Given the description of an element on the screen output the (x, y) to click on. 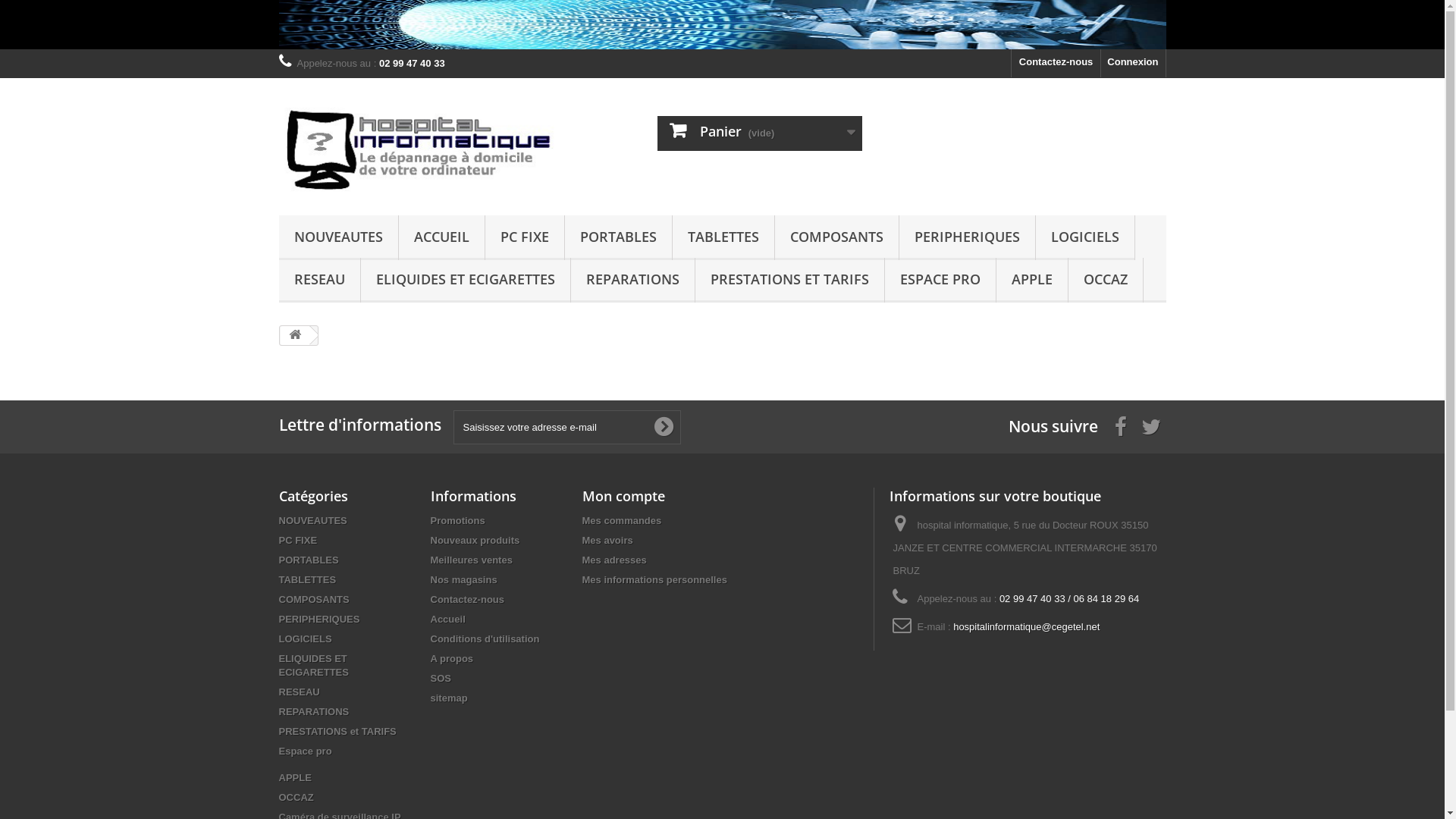
RESEAU Element type: text (299, 691)
Contactez-nous Element type: text (1056, 63)
Contactez-nous Element type: text (467, 599)
Mes avoirs Element type: text (607, 540)
REPARATIONS Element type: text (314, 711)
SOS Element type: text (440, 678)
PERIPHERIQUES Element type: text (967, 237)
Mon compte Element type: text (623, 495)
OCCAZ Element type: text (1104, 279)
PC FIXE Element type: text (524, 237)
Conditions d'utilisation Element type: text (484, 638)
PRESTATIONS et TARIFS Element type: text (337, 731)
APPLE Element type: text (295, 777)
Promotions Element type: text (457, 520)
RESEAU Element type: text (319, 279)
TABLETTES Element type: text (722, 237)
A propos Element type: text (451, 658)
Accueil Element type: text (447, 618)
LOGICIELS Element type: text (305, 638)
ACCUEIL Element type: text (441, 237)
Mes adresses Element type: text (614, 559)
NOUVEAUTES Element type: text (338, 237)
NOUVEAUTES Element type: text (313, 520)
REPARATIONS Element type: text (631, 279)
ELIQUIDES ET ECIGARETTES Element type: text (313, 664)
Espace pro Element type: text (305, 750)
LOGICIELS Element type: text (1084, 237)
PORTABLES Element type: text (308, 559)
Mes commandes Element type: text (622, 520)
hospitalinformatique@cegetel.net Element type: text (1026, 626)
Panier (vide) Element type: text (759, 133)
TABLETTES Element type: text (307, 579)
Connexion Element type: text (1132, 63)
OCCAZ Element type: text (296, 797)
sitemap Element type: text (448, 697)
COMPOSANTS Element type: text (314, 599)
Meilleures ventes Element type: text (471, 559)
PERIPHERIQUES Element type: text (319, 618)
COMPOSANTS Element type: text (836, 237)
ELIQUIDES ET ECIGARETTES Element type: text (465, 279)
Nos magasins Element type: text (463, 579)
Mes informations personnelles Element type: text (654, 579)
PC FIXE Element type: text (298, 540)
Nouveaux produits Element type: text (475, 540)
PORTABLES Element type: text (617, 237)
HOSPITAL INFORMATIQUE Element type: hover (419, 142)
APPLE Element type: text (1031, 279)
ESPACE PRO Element type: text (939, 279)
PRESTATIONS ET TARIFS Element type: text (788, 279)
